Given the description of an element on the screen output the (x, y) to click on. 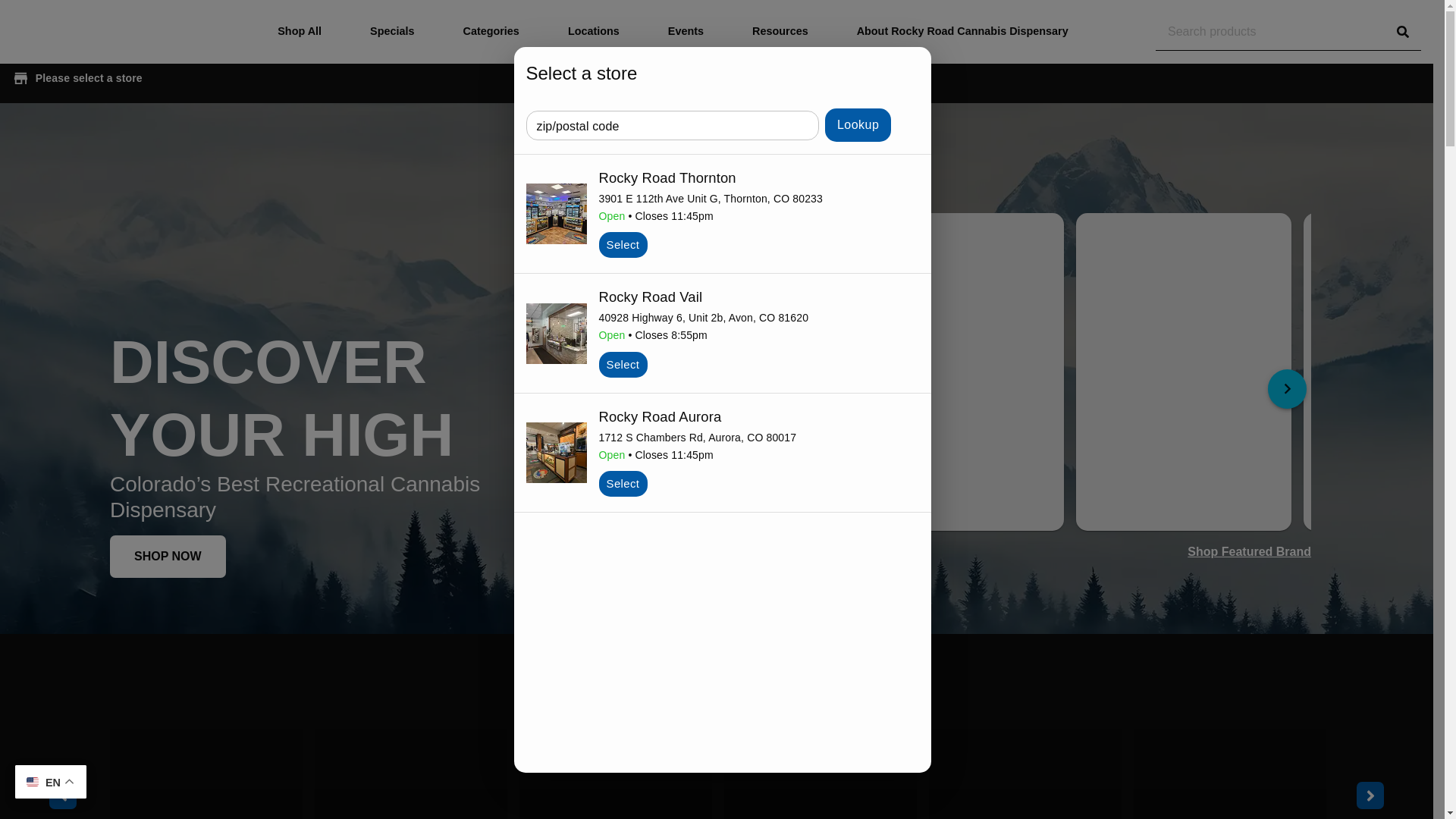
Resources (779, 31)
Events (686, 31)
Categories (489, 31)
Shop All (298, 31)
Locations (593, 31)
Categories (489, 31)
Specials (392, 31)
Shop All (298, 31)
About Rocky Road Cannabis Dispensary (962, 31)
